Given the description of an element on the screen output the (x, y) to click on. 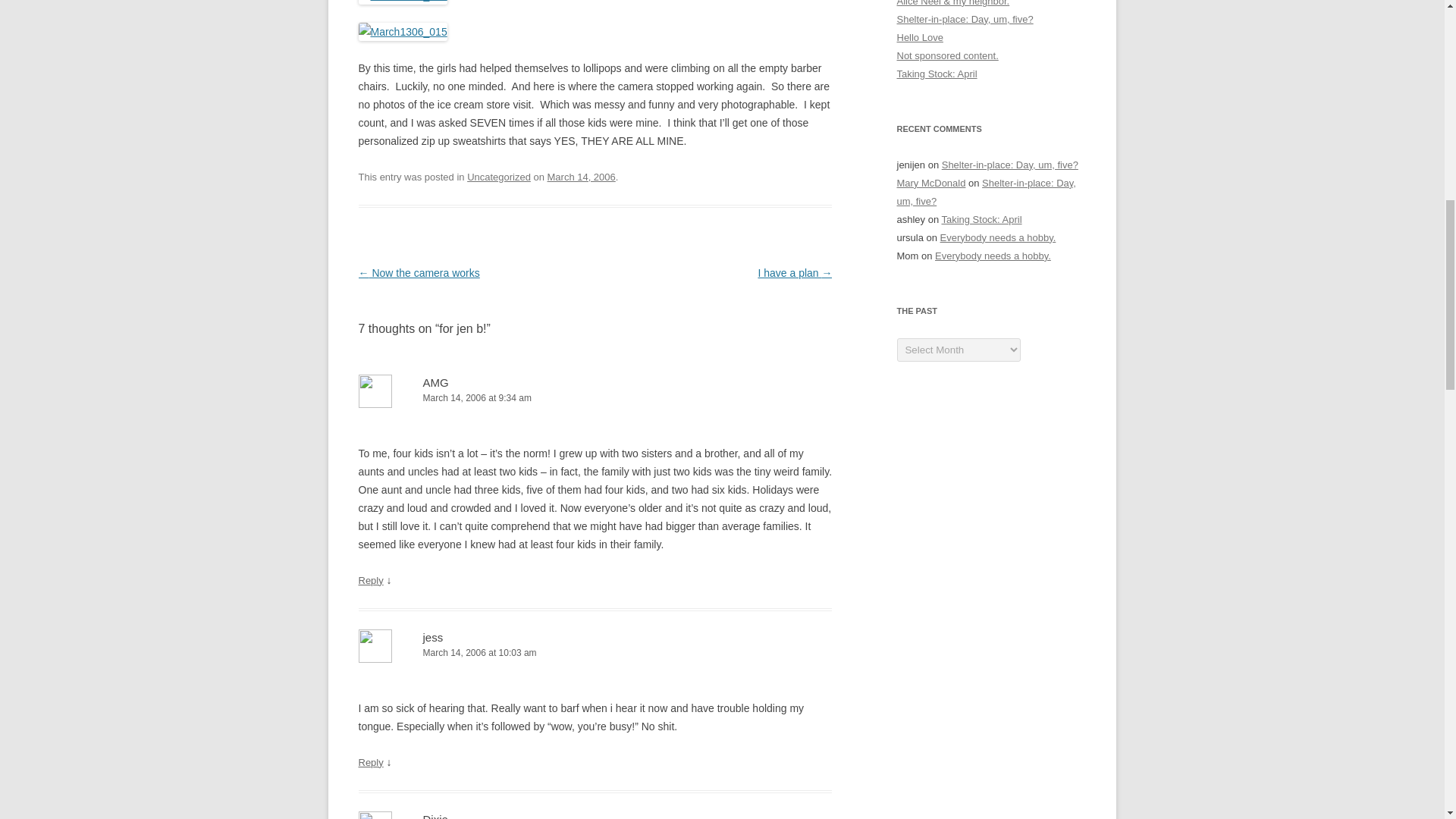
Reply (370, 580)
Uncategorized (499, 176)
8:51 am (581, 176)
March 14, 2006 (581, 176)
March 14, 2006 at 9:34 am (594, 398)
AMG (435, 382)
jess (433, 636)
March 14, 2006 at 10:03 am (594, 652)
Reply (370, 762)
Dixie (435, 816)
